Given the description of an element on the screen output the (x, y) to click on. 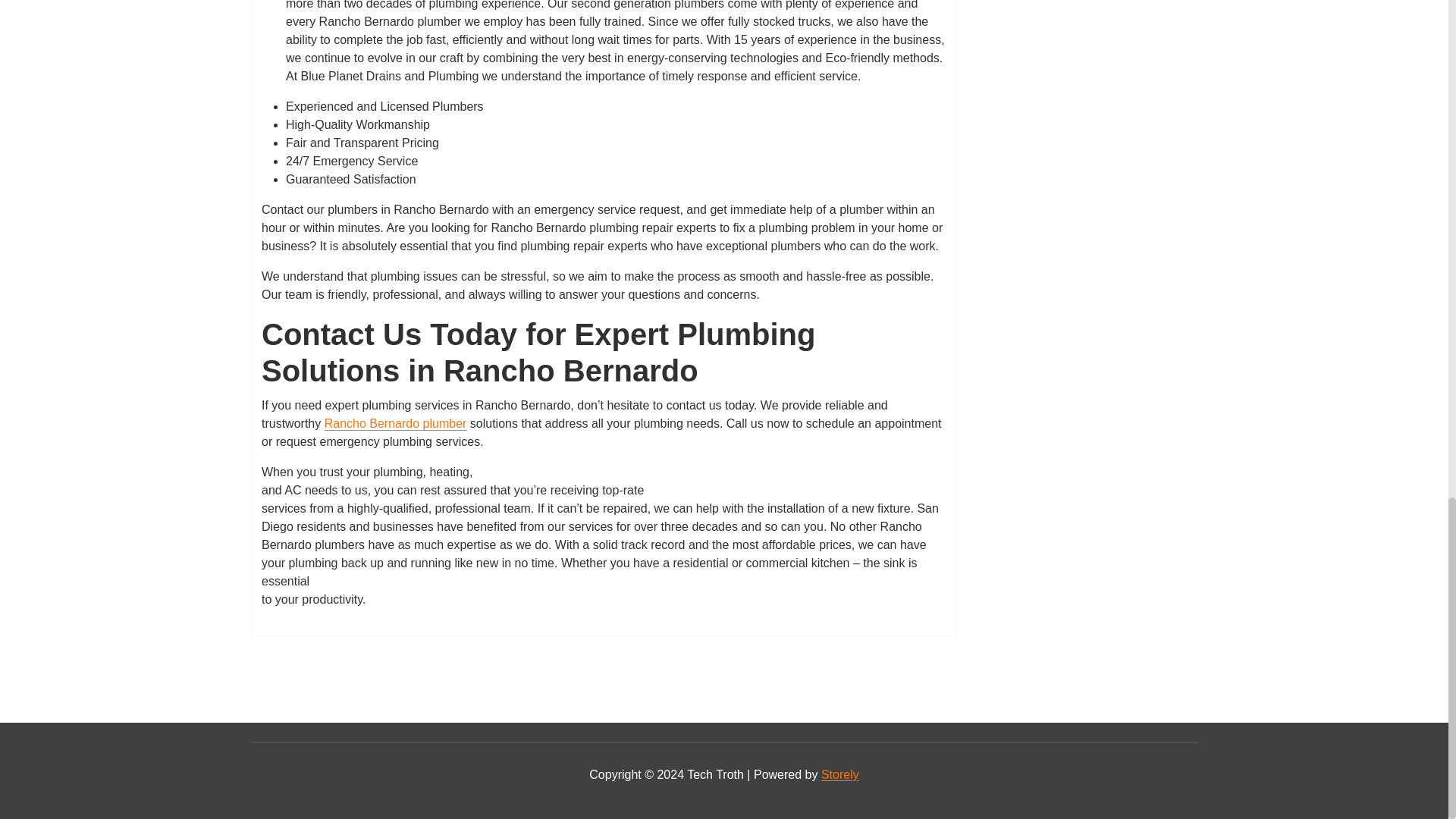
Storely (840, 774)
Rancho Bernardo plumber (395, 422)
